Given the description of an element on the screen output the (x, y) to click on. 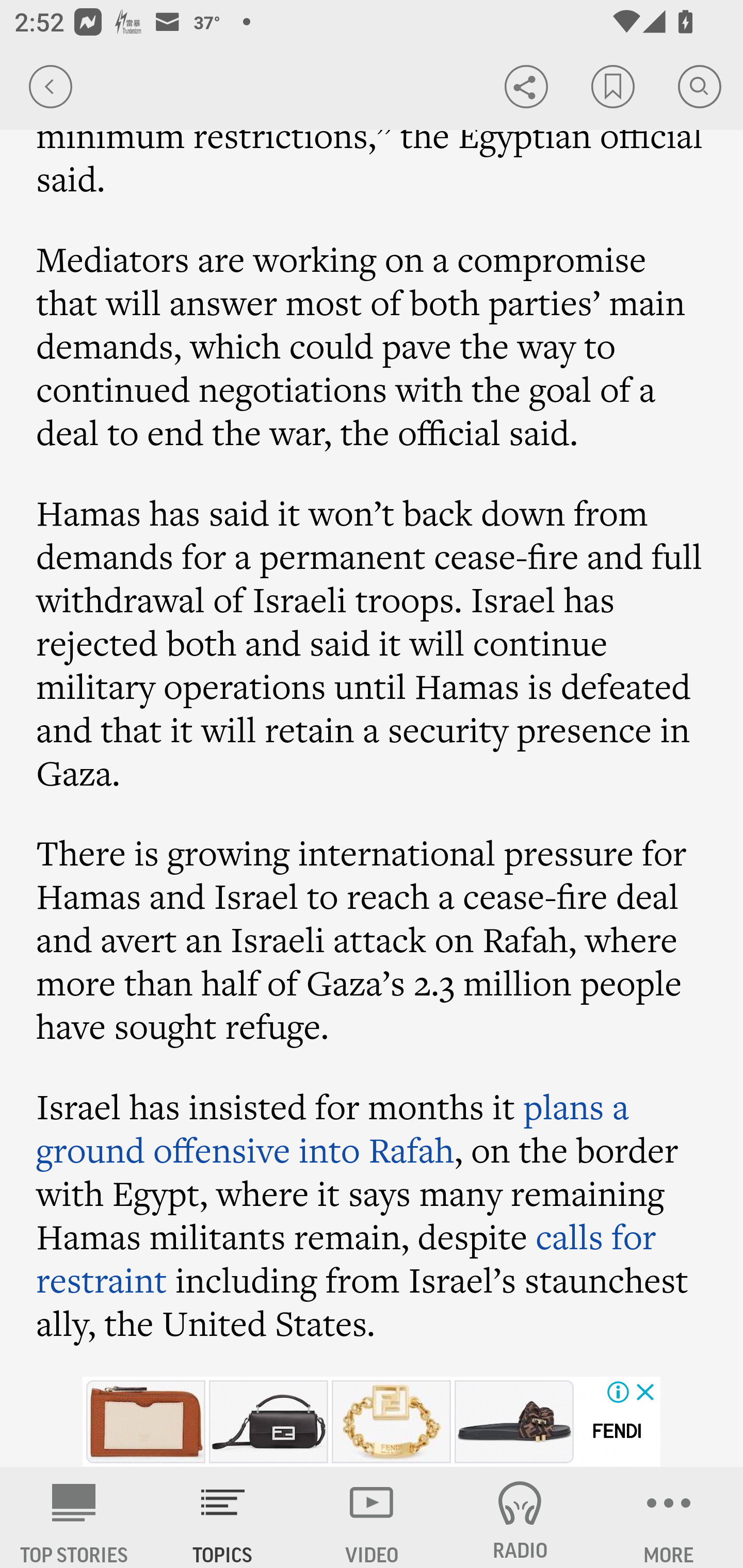
plans a ground offensive into Rafah (333, 1126)
calls for restraint (346, 1257)
fendi-feel-brown-satin-slides-8x8142ae7sf0r7v (513, 1420)
AP News TOP STORIES (74, 1517)
TOPICS (222, 1517)
VIDEO (371, 1517)
RADIO (519, 1517)
MORE (668, 1517)
